Given the description of an element on the screen output the (x, y) to click on. 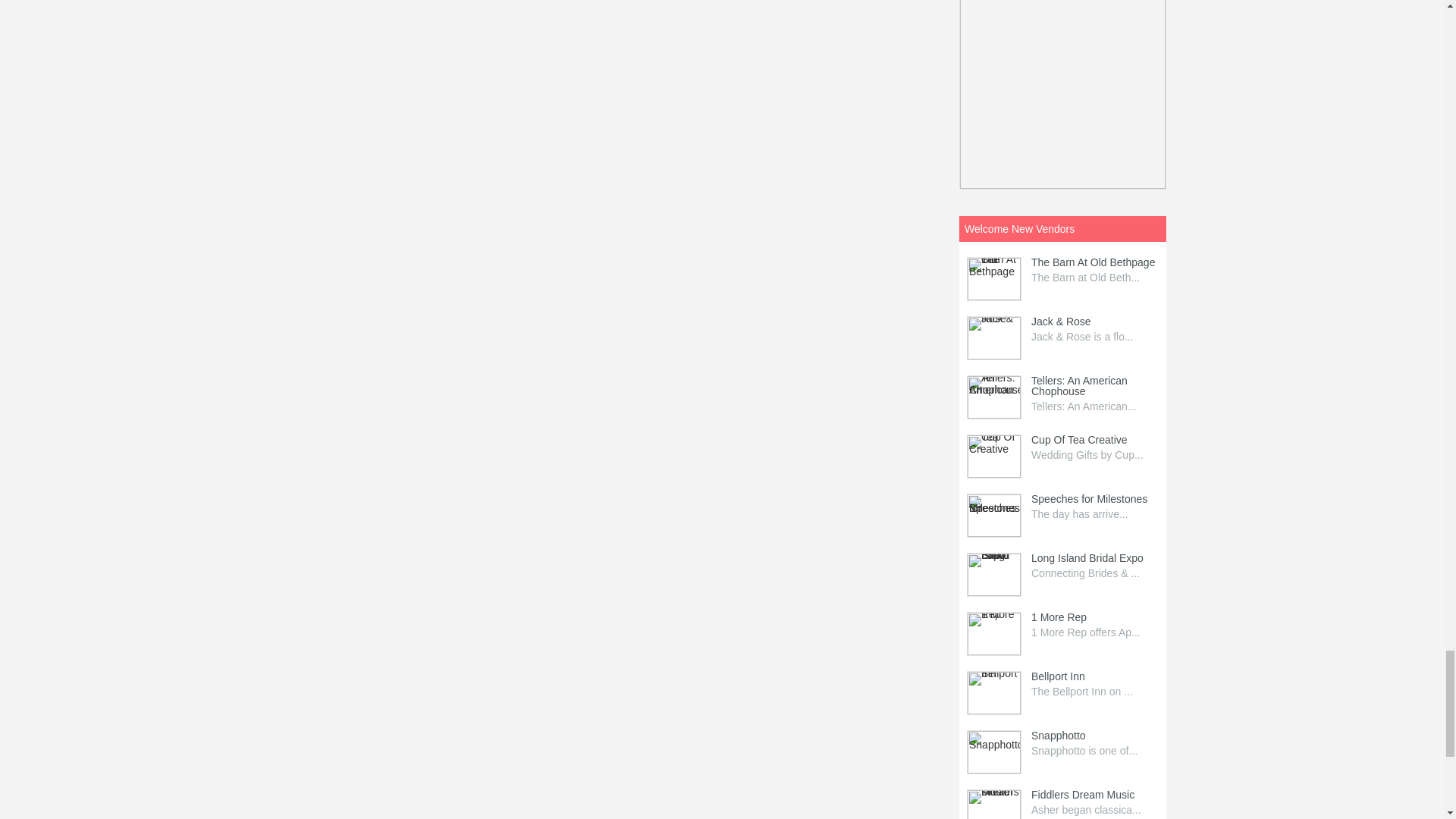
The Barn At Old Bethpage (994, 278)
Snapphotto (994, 752)
Cup Of Tea Creative (994, 455)
Bellport Inn (994, 692)
Make-Up- (1062, 94)
Tellers: An American Chophouse (994, 396)
Speeches for Milestones (994, 515)
Long Island Bridal Expo (994, 574)
Fiddlers Dream Music (994, 804)
1 More Rep (994, 633)
